Given the description of an element on the screen output the (x, y) to click on. 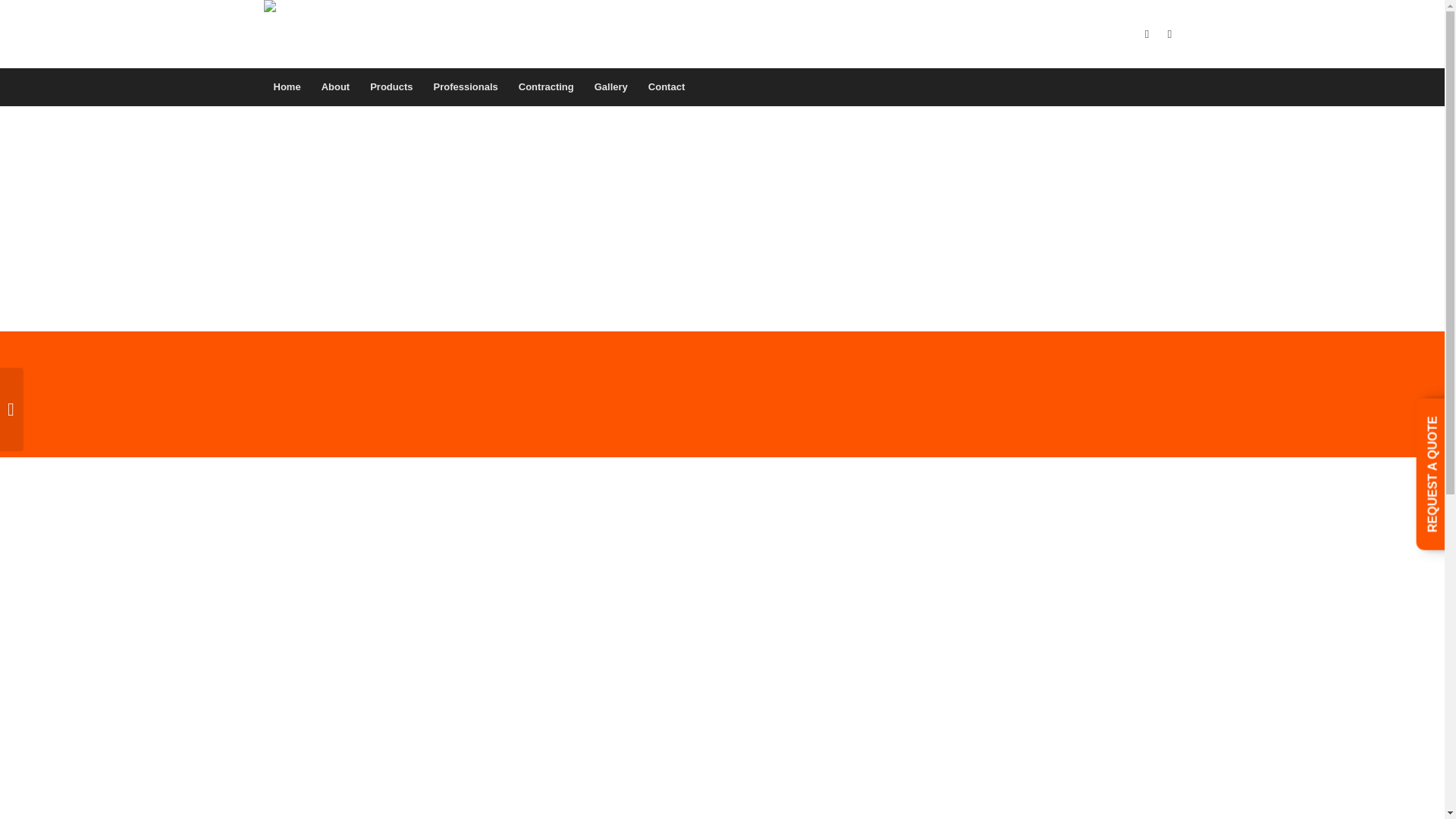
Gallery (610, 86)
WhatsApp (1169, 33)
Professionals (465, 86)
About (335, 86)
Products (390, 86)
Contracting (545, 86)
Home (287, 86)
Facebook (1146, 33)
Contact (665, 86)
